Given the description of an element on the screen output the (x, y) to click on. 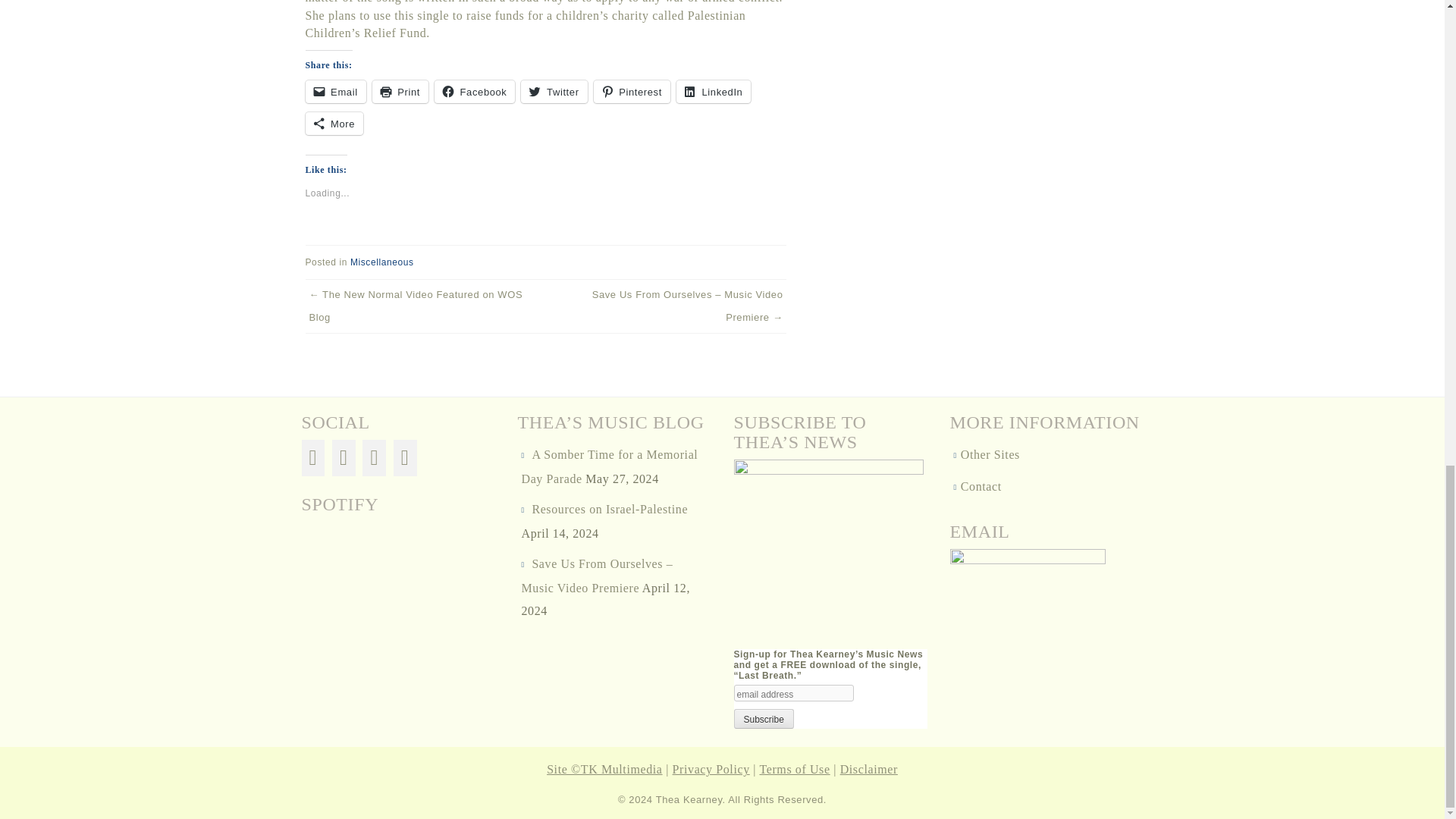
Click to email a link to a friend (334, 91)
Facebook (474, 91)
Print (400, 91)
Click to print (400, 91)
Email (334, 91)
Click to share on Twitter (553, 91)
Pinterest (631, 91)
Click to share on Facebook (474, 91)
LinkedIn (714, 91)
More (333, 123)
